Given the description of an element on the screen output the (x, y) to click on. 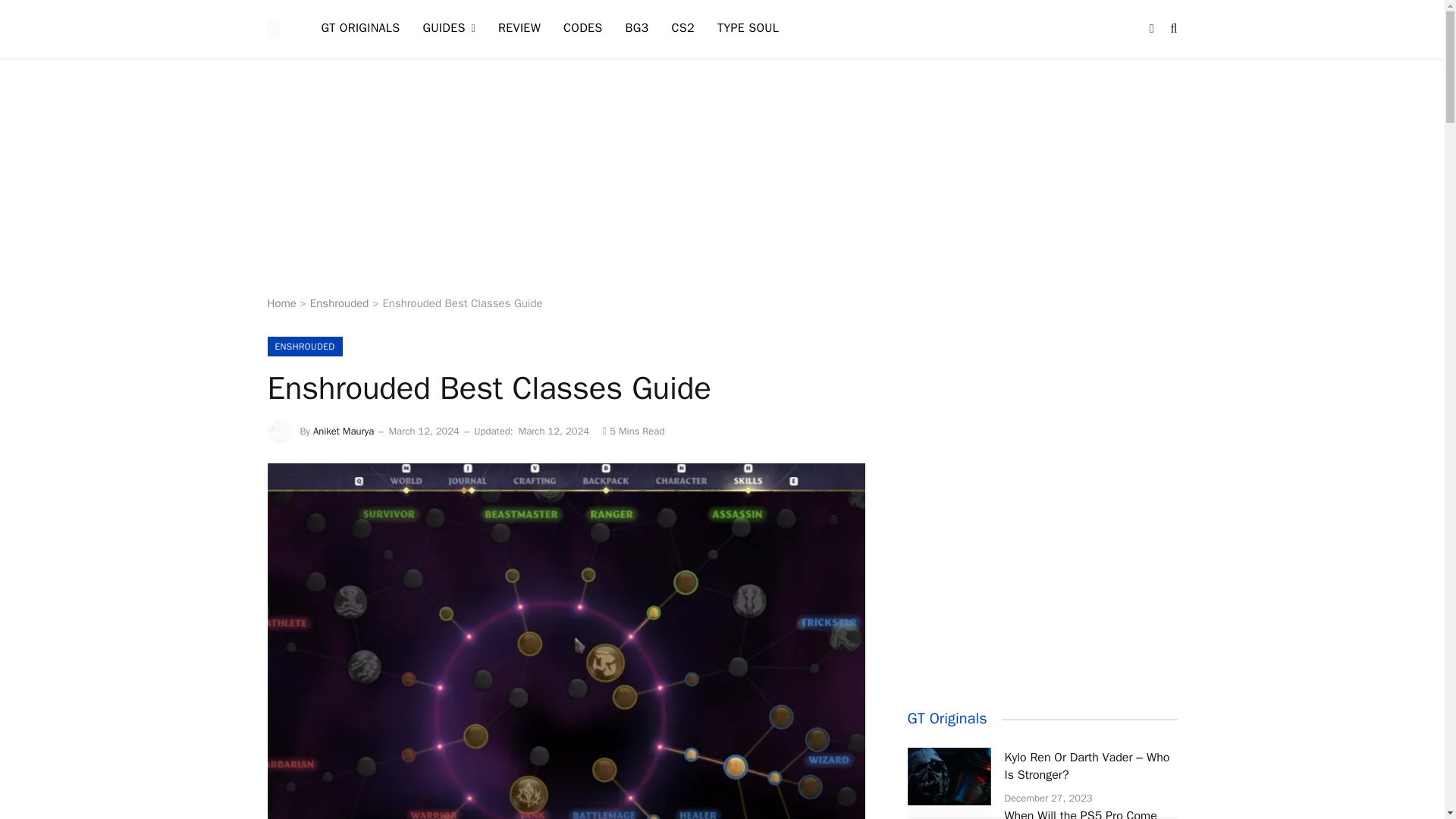
Switch to Dark Design - easier on eyes. (1151, 28)
Aniket Maurya (343, 431)
Enshrouded (339, 303)
CODES (581, 28)
GUIDES (448, 28)
REVIEW (518, 28)
GT ORIGINALS (359, 28)
TYPE SOUL (748, 28)
ENSHROUDED (304, 346)
Home (280, 303)
Posts by Aniket Maurya (343, 431)
